Given the description of an element on the screen output the (x, y) to click on. 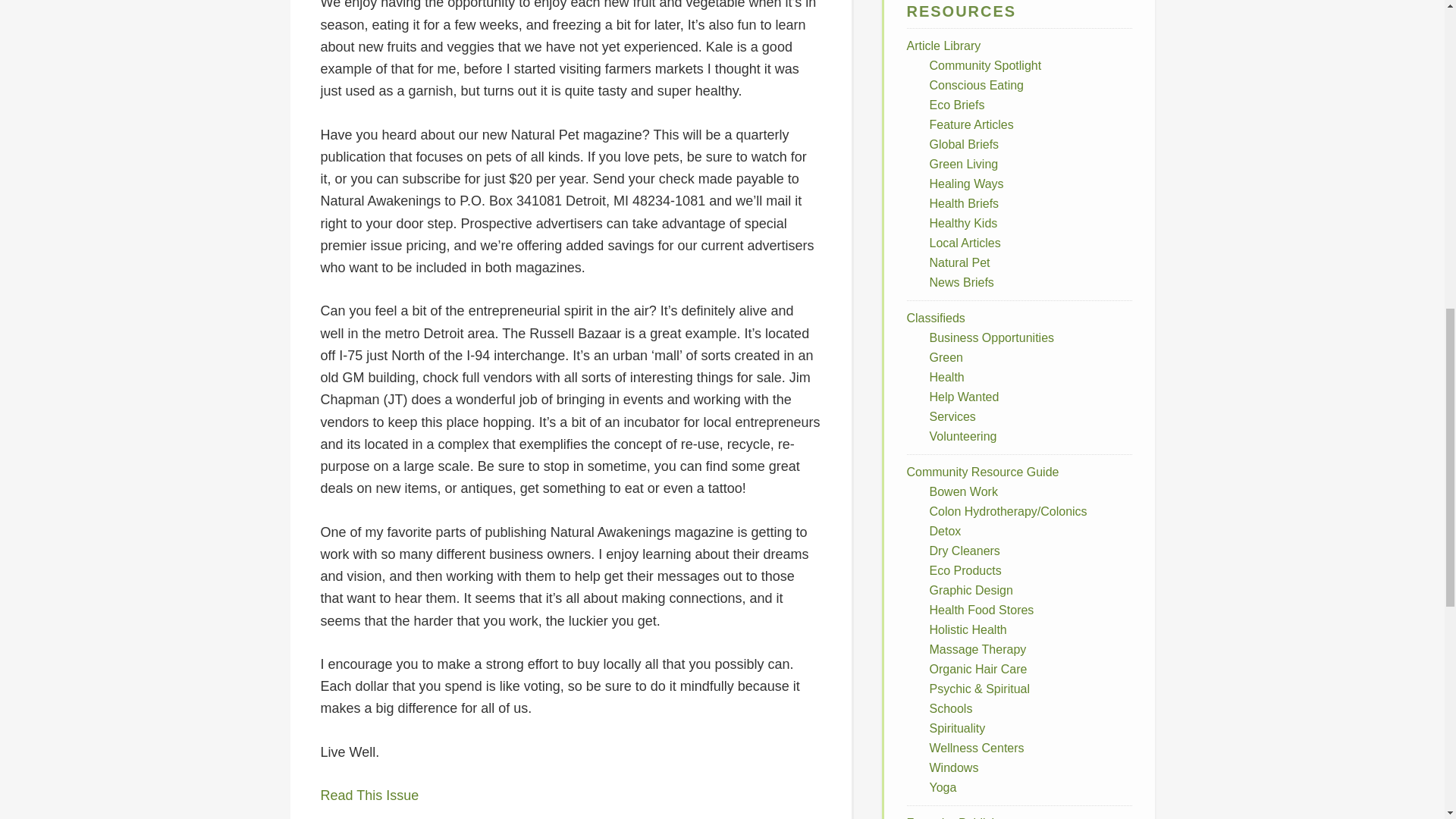
Article Library (944, 45)
Community Spotlight (986, 65)
Read This Issue (369, 795)
